Given the description of an element on the screen output the (x, y) to click on. 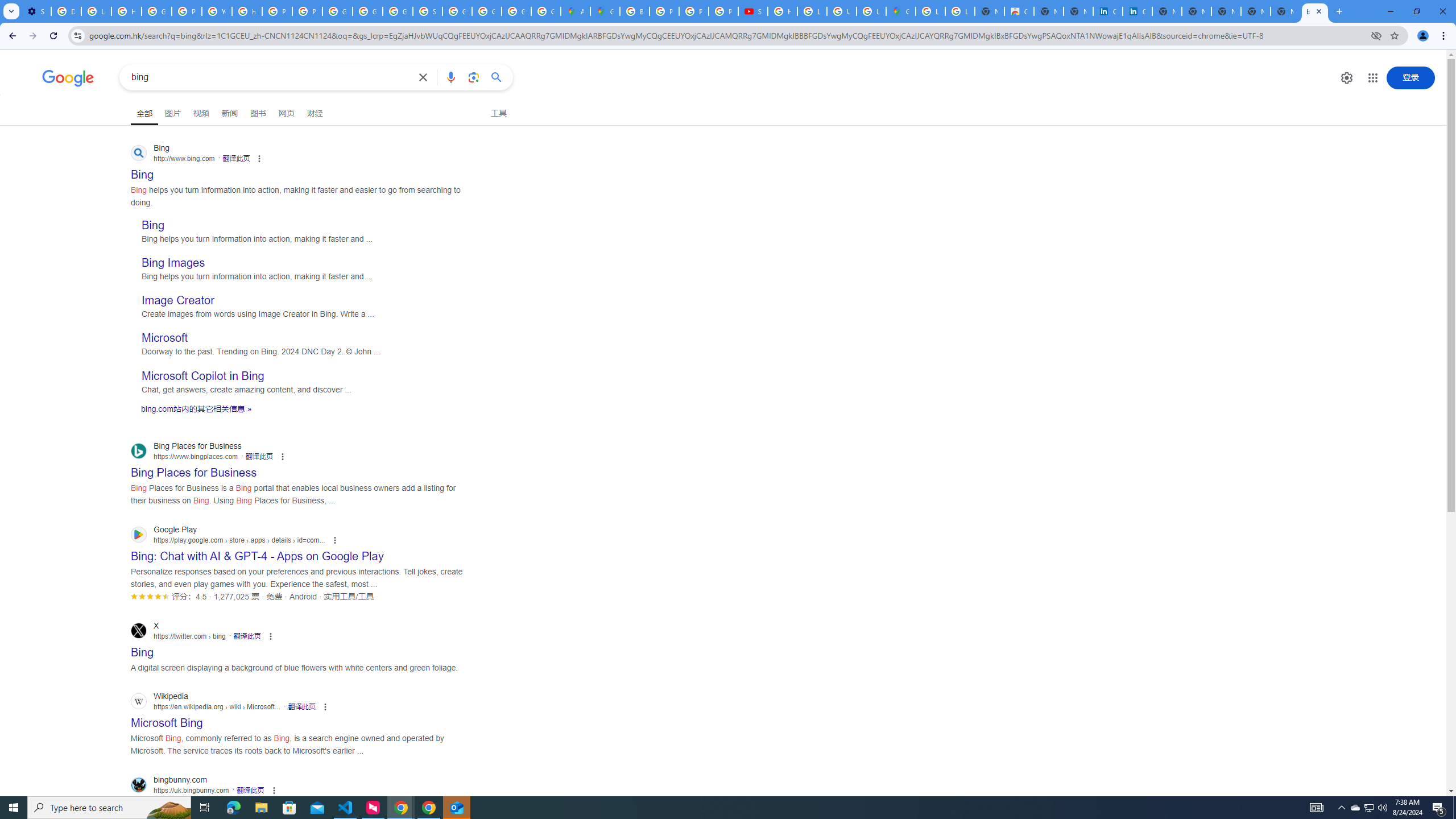
Cookie Policy | LinkedIn (1137, 11)
Sign in - Google Accounts (426, 11)
Bing (152, 224)
Google Maps (900, 11)
Microsoft (164, 337)
